Given the description of an element on the screen output the (x, y) to click on. 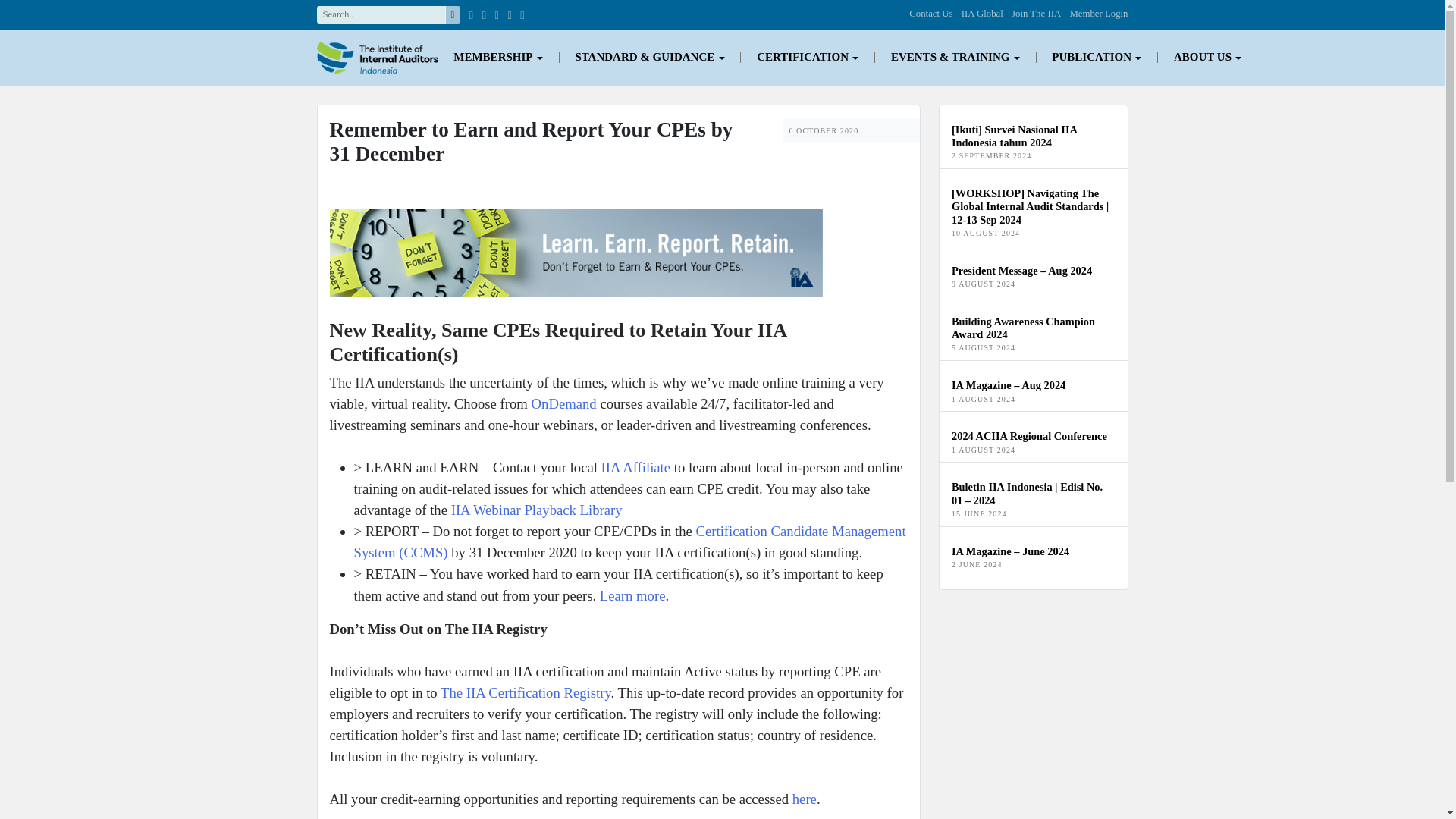
CERTIFICATION (808, 57)
MEMBERSHIP (498, 57)
Join The IIA (1036, 13)
Member Login (1097, 13)
IIA Global (981, 13)
Contact Us (930, 13)
